Given the description of an element on the screen output the (x, y) to click on. 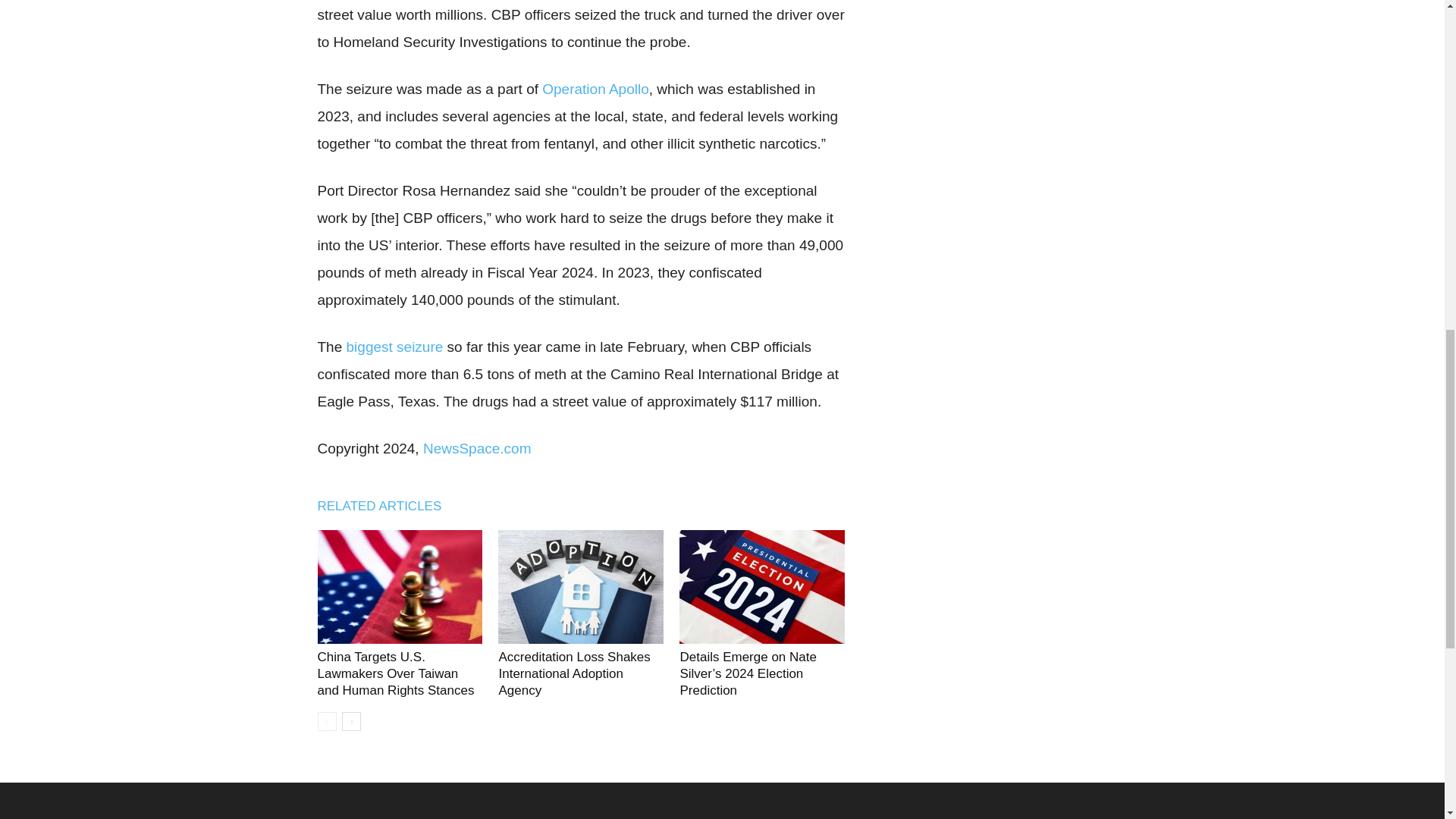
Accreditation Loss Shakes International Adoption Agency (573, 673)
Operation Apollo (595, 89)
RELATED ARTICLES (387, 505)
NewsSpace.com (477, 448)
Accreditation Loss Shakes International Adoption Agency (573, 673)
biggest seizure (395, 346)
Accreditation Loss Shakes International Adoption Agency (580, 586)
